Given the description of an element on the screen output the (x, y) to click on. 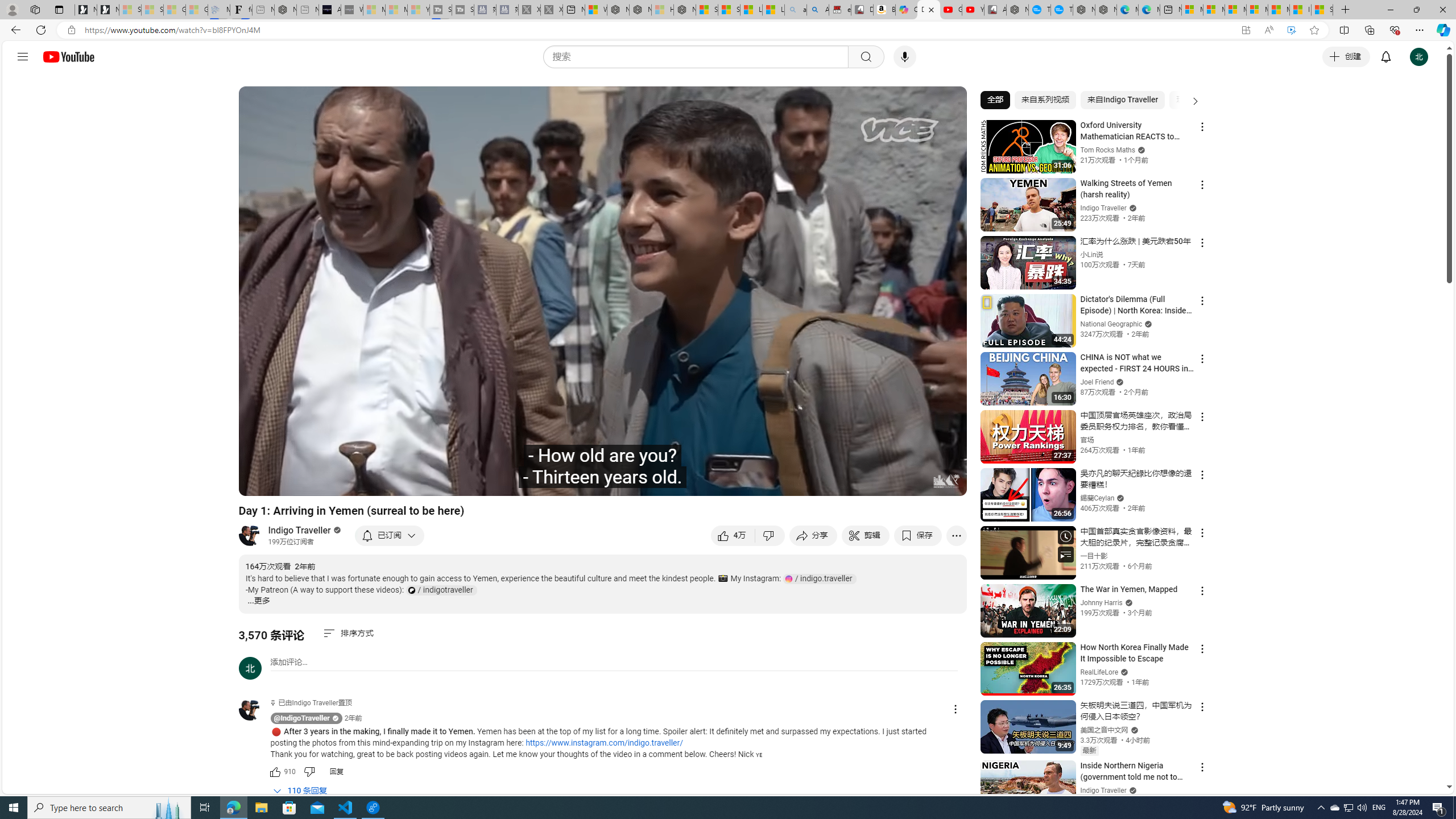
Copilot (907, 9)
The most popular Google 'how to' searches (1061, 9)
